Given the description of an element on the screen output the (x, y) to click on. 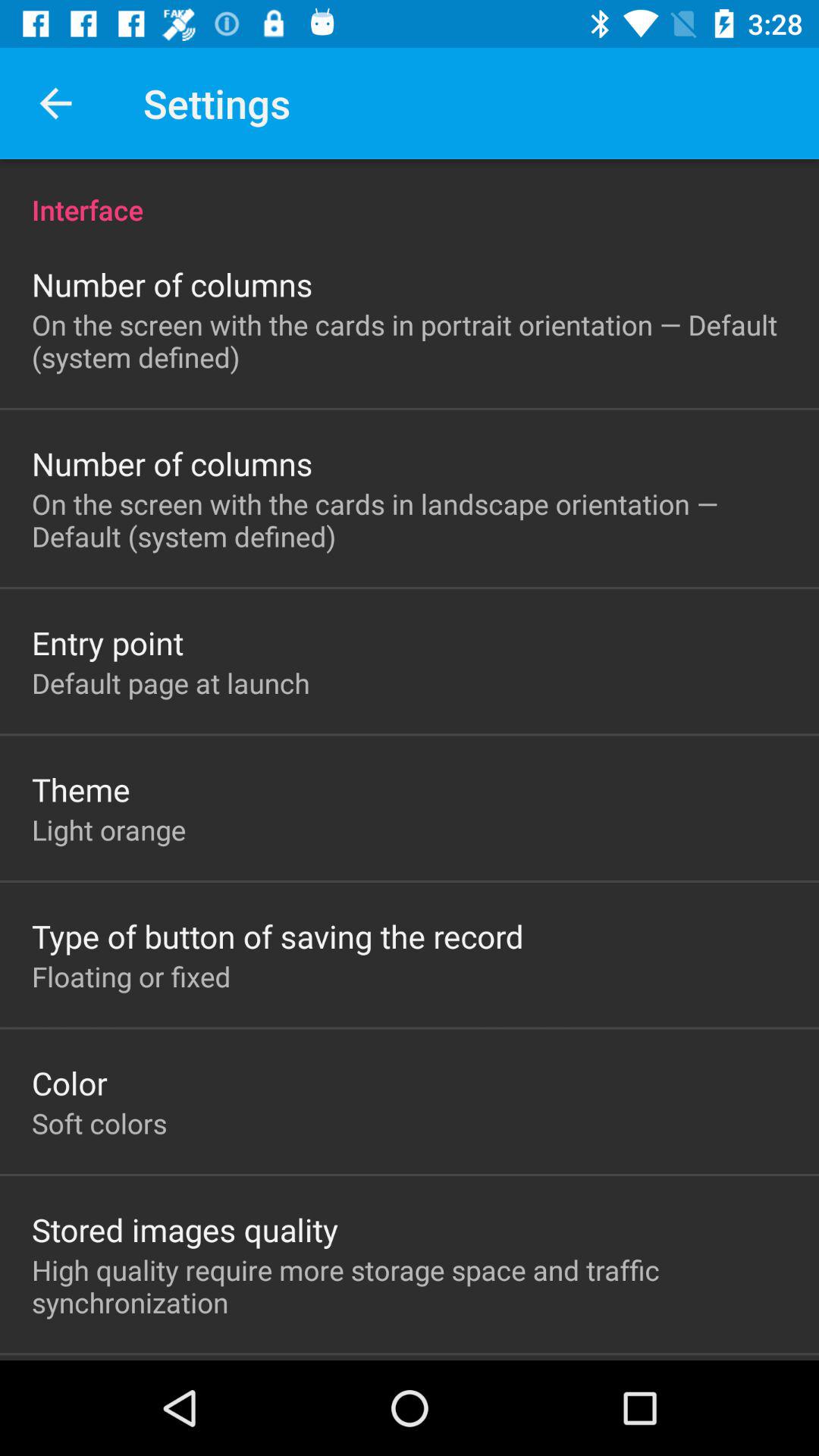
press theme item (80, 789)
